Given the description of an element on the screen output the (x, y) to click on. 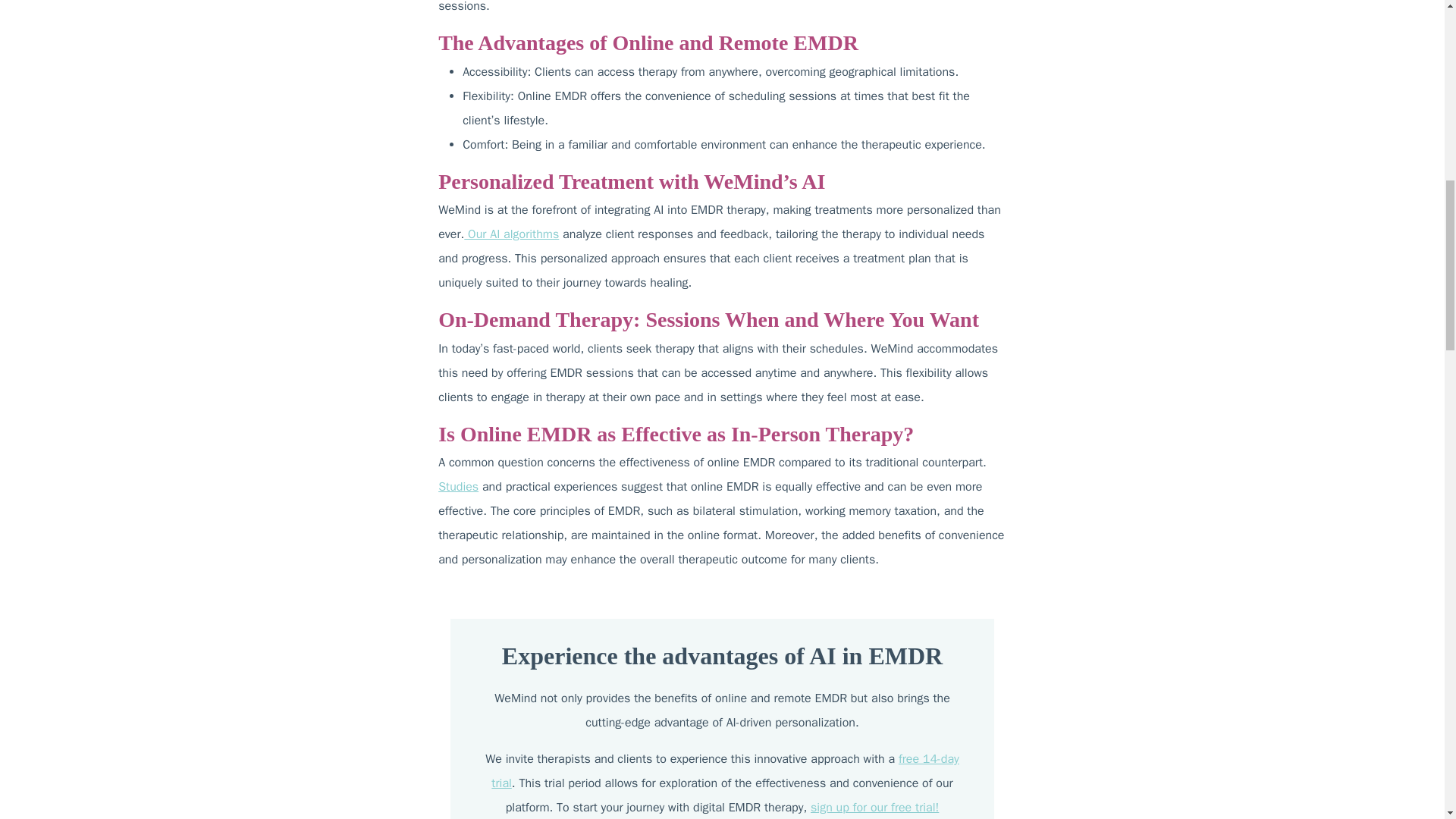
Our AI algorithms (511, 233)
Studies (458, 486)
free 14-day trial (725, 771)
sign up for our free trial! (874, 807)
